Given the description of an element on the screen output the (x, y) to click on. 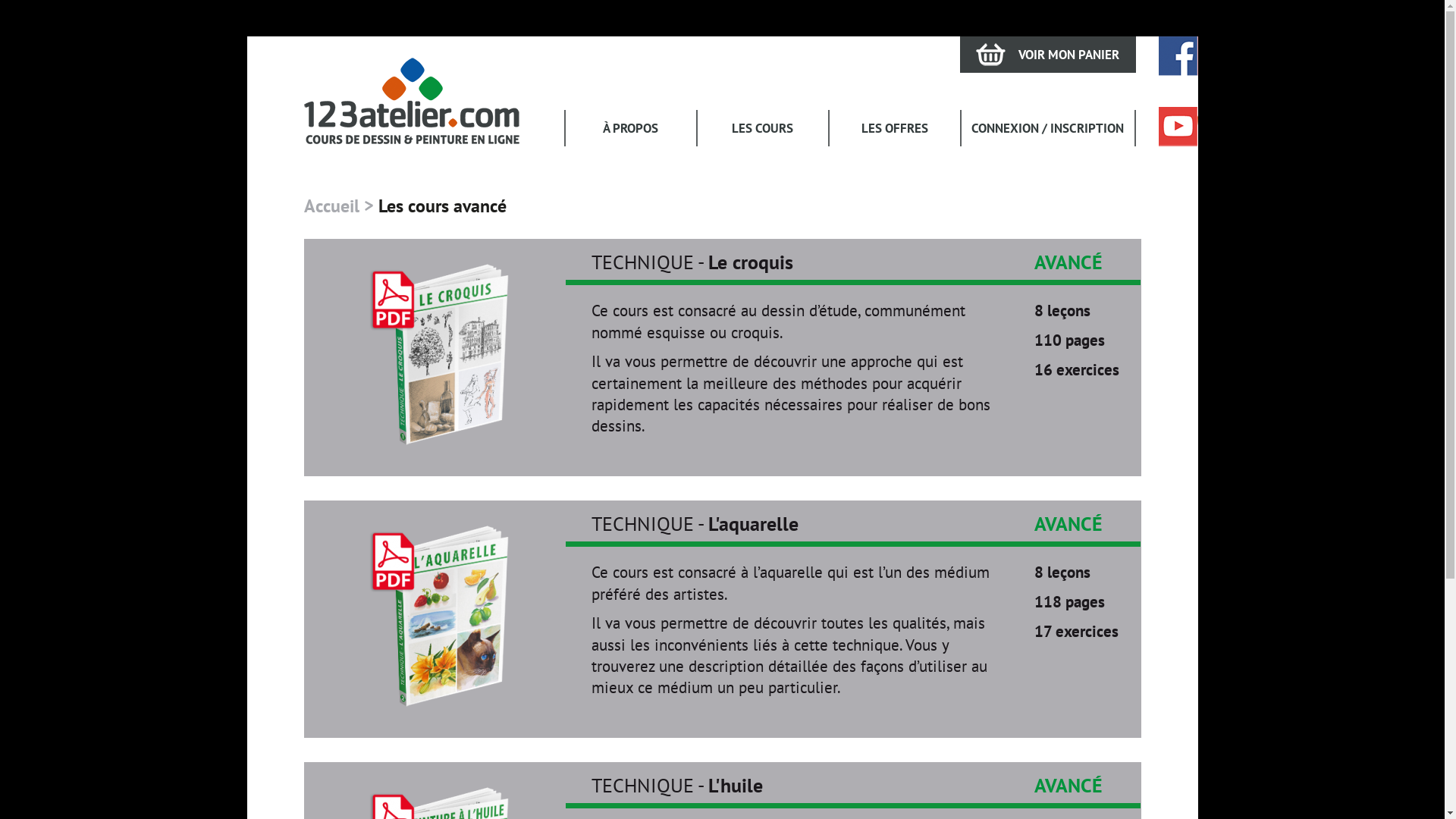
CONNEXION / INSCRIPTION Element type: text (1047, 127)
LES OFFRES Element type: text (894, 127)
Youtube Element type: text (1178, 126)
VOIR MON PANIER Element type: text (1047, 54)
Facebook Element type: text (1178, 55)
Accueil Element type: text (330, 205)
LES COURS Element type: text (762, 127)
